Given the description of an element on the screen output the (x, y) to click on. 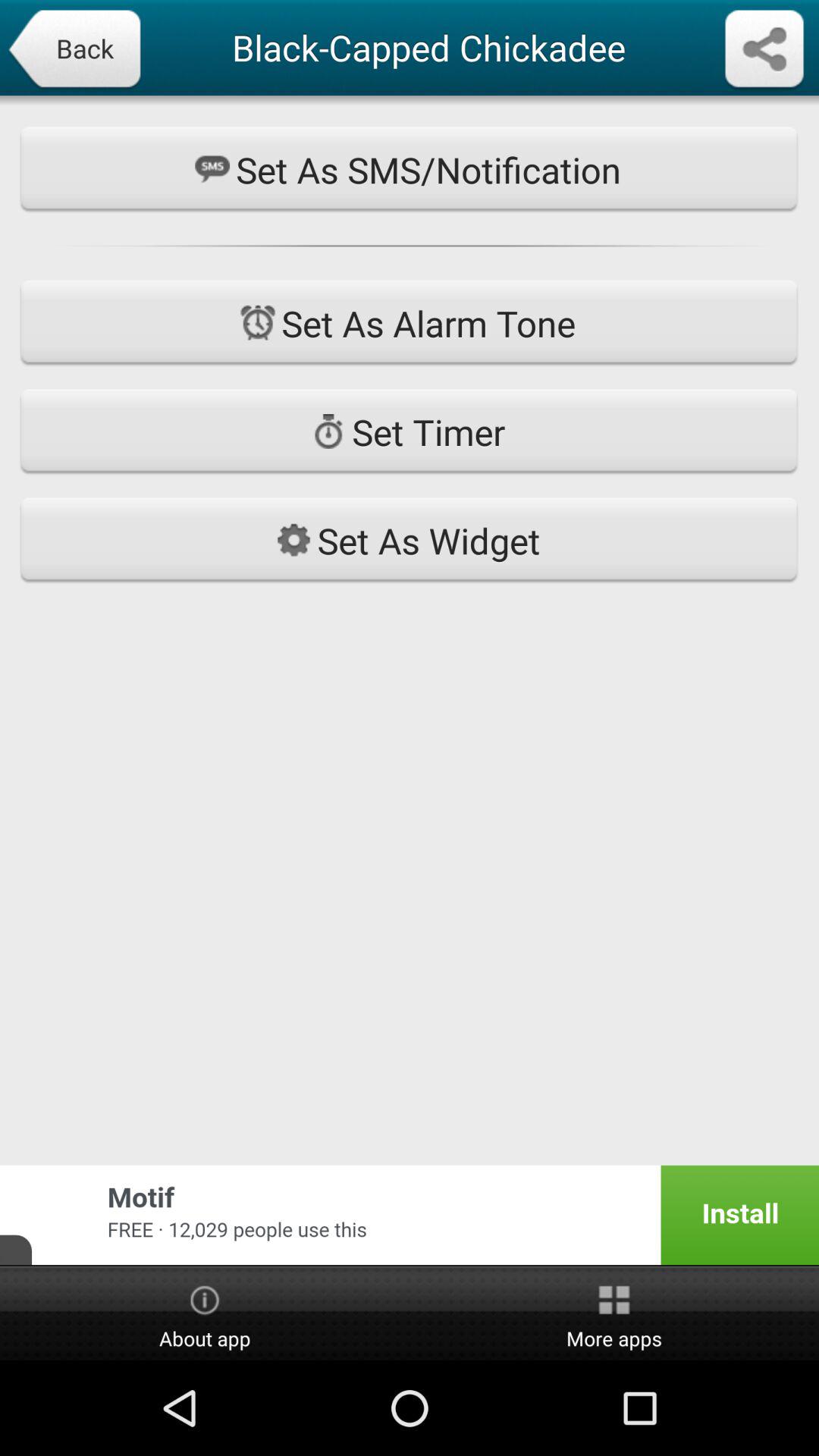
jump to the about app icon (204, 1314)
